Given the description of an element on the screen output the (x, y) to click on. 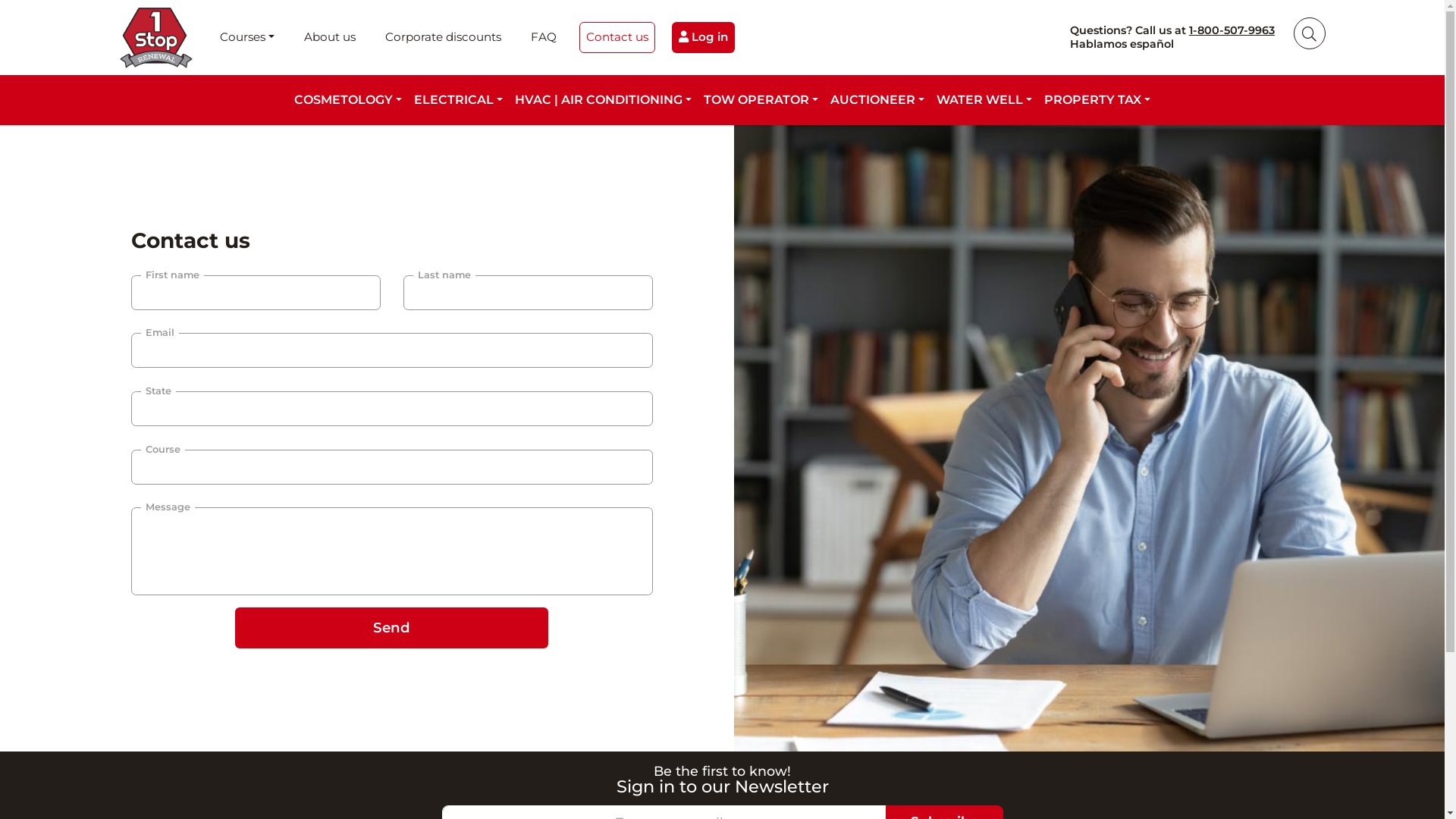
HVAC | AIR CONDITIONING Element type: text (598, 99)
AUCTIONEER Element type: text (877, 99)
WATER WELL Element type: text (979, 99)
COSMETOLOGY Element type: text (347, 99)
AUCTIONEER Element type: text (872, 99)
TOW OPERATOR Element type: text (760, 99)
COSMETOLOGY Element type: text (343, 99)
PROPERTY TAX Element type: text (1092, 99)
ELECTRICAL Element type: text (453, 99)
FAQ Element type: text (543, 37)
HVAC | AIR CONDITIONING Element type: text (602, 99)
TOW OPERATOR Element type: text (756, 99)
WATER WELL Element type: text (984, 99)
ELECTRICAL Element type: text (457, 99)
Send Element type: text (391, 627)
Log in Element type: text (702, 37)
Courses Element type: text (247, 37)
Corporate discounts Element type: text (443, 37)
About us Element type: text (329, 37)
1-800-507-9963 Element type: text (1231, 30)
Contact us Element type: text (617, 37)
PROPERTY TAX Element type: text (1097, 99)
